Given the description of an element on the screen output the (x, y) to click on. 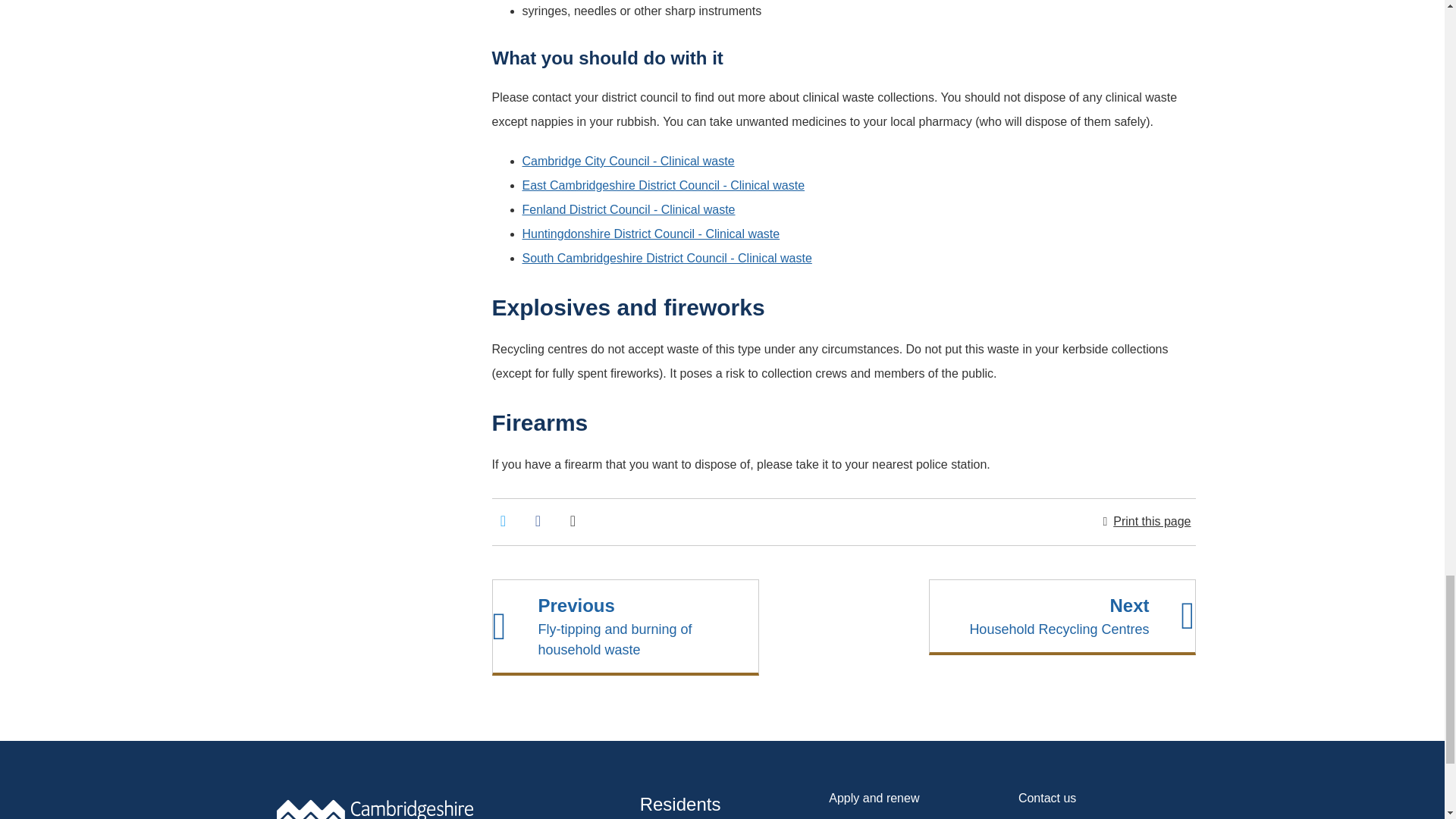
Huntingdonshire District Council - Clinical waste (649, 233)
Cambridge City Council - Clinical waste (627, 160)
East Cambridgeshire District Council - Clinical waste (663, 185)
South Cambridgeshire District Council - Clinical waste (665, 257)
Fenland District Council - Clinical waste (628, 209)
